Given the description of an element on the screen output the (x, y) to click on. 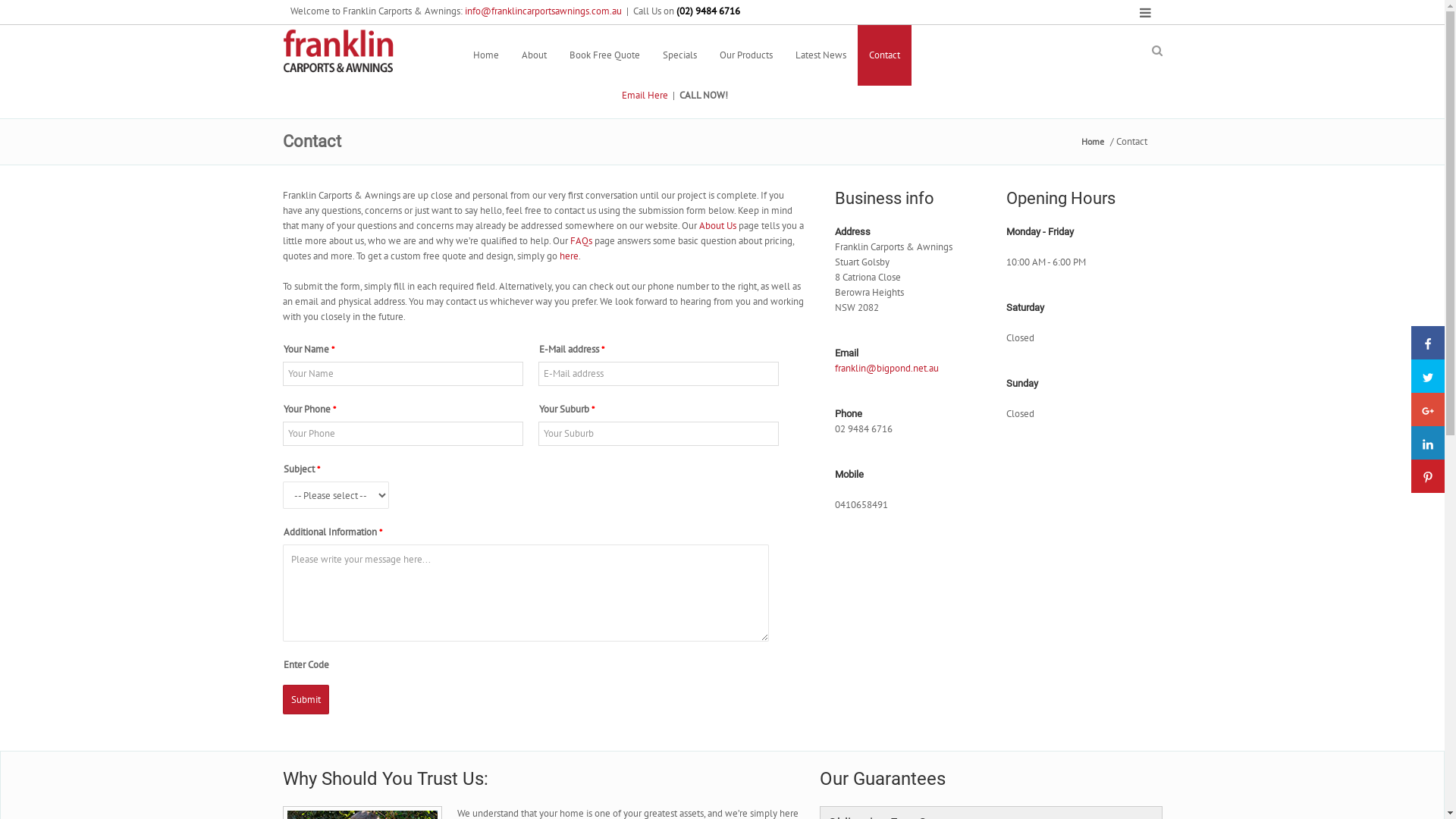
here Element type: text (568, 255)
Email Here Element type: text (644, 94)
Submit Element type: text (305, 699)
Book Free Quote Element type: text (604, 55)
Specials Element type: text (678, 55)
About Us Element type: text (717, 225)
Our Products Element type: text (746, 55)
FAQs Element type: text (581, 240)
(02) 9484 6716 Element type: text (777, 93)
About Element type: text (533, 55)
Home Element type: text (485, 55)
info@franklincarportsawnings.com.au Element type: text (542, 10)
franklin@bigpond.net.au Element type: text (886, 367)
Latest News Element type: text (820, 55)
Home Element type: text (1092, 141)
Contact Element type: text (883, 55)
